Given the description of an element on the screen output the (x, y) to click on. 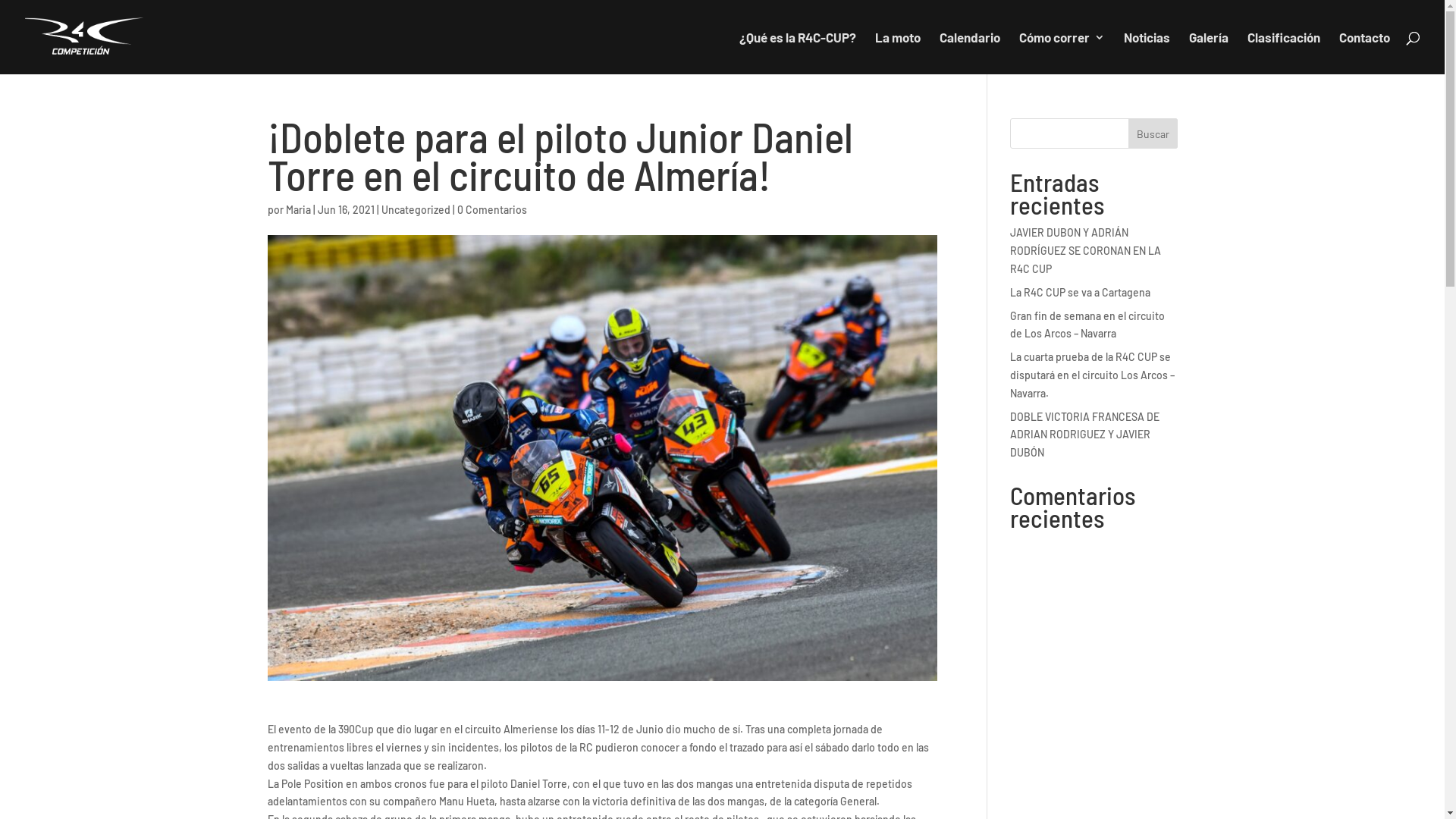
La moto Element type: text (897, 52)
Noticias Element type: text (1146, 52)
Uncategorized Element type: text (414, 209)
Contacto Element type: text (1364, 52)
0 Comentarios Element type: text (491, 209)
Maria Element type: text (297, 209)
La R4C CUP se va a Cartagena Element type: text (1080, 291)
Buscar Element type: text (1152, 133)
Calendario Element type: text (969, 52)
